Given the description of an element on the screen output the (x, y) to click on. 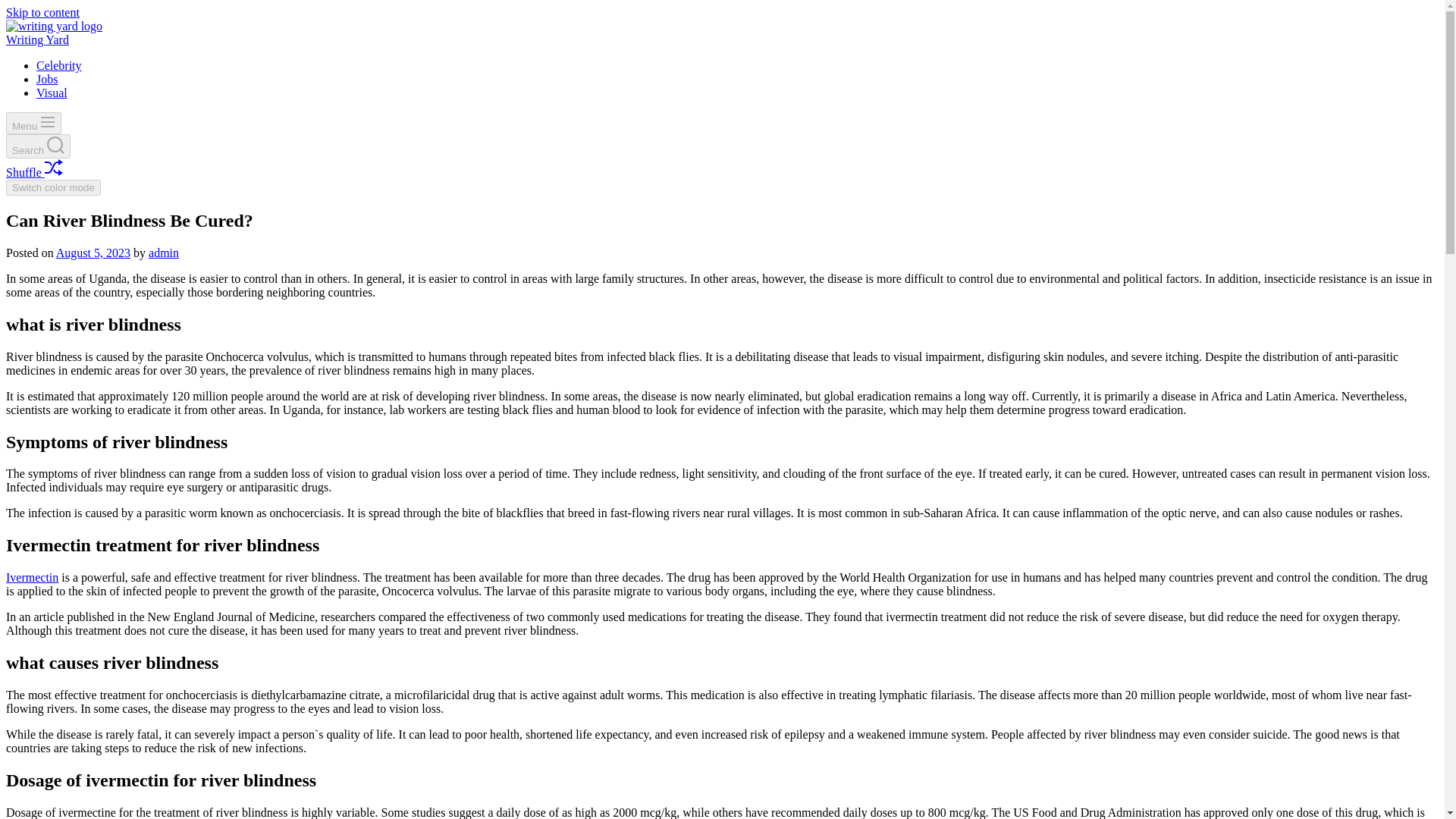
Ivermectin (31, 576)
admin (163, 252)
Visual (51, 92)
Writing Yard (36, 39)
August 5, 2023 (93, 252)
Jobs (47, 78)
Shuffle (33, 172)
Menu (33, 123)
Celebrity (58, 65)
Switch color mode (52, 187)
